Given the description of an element on the screen output the (x, y) to click on. 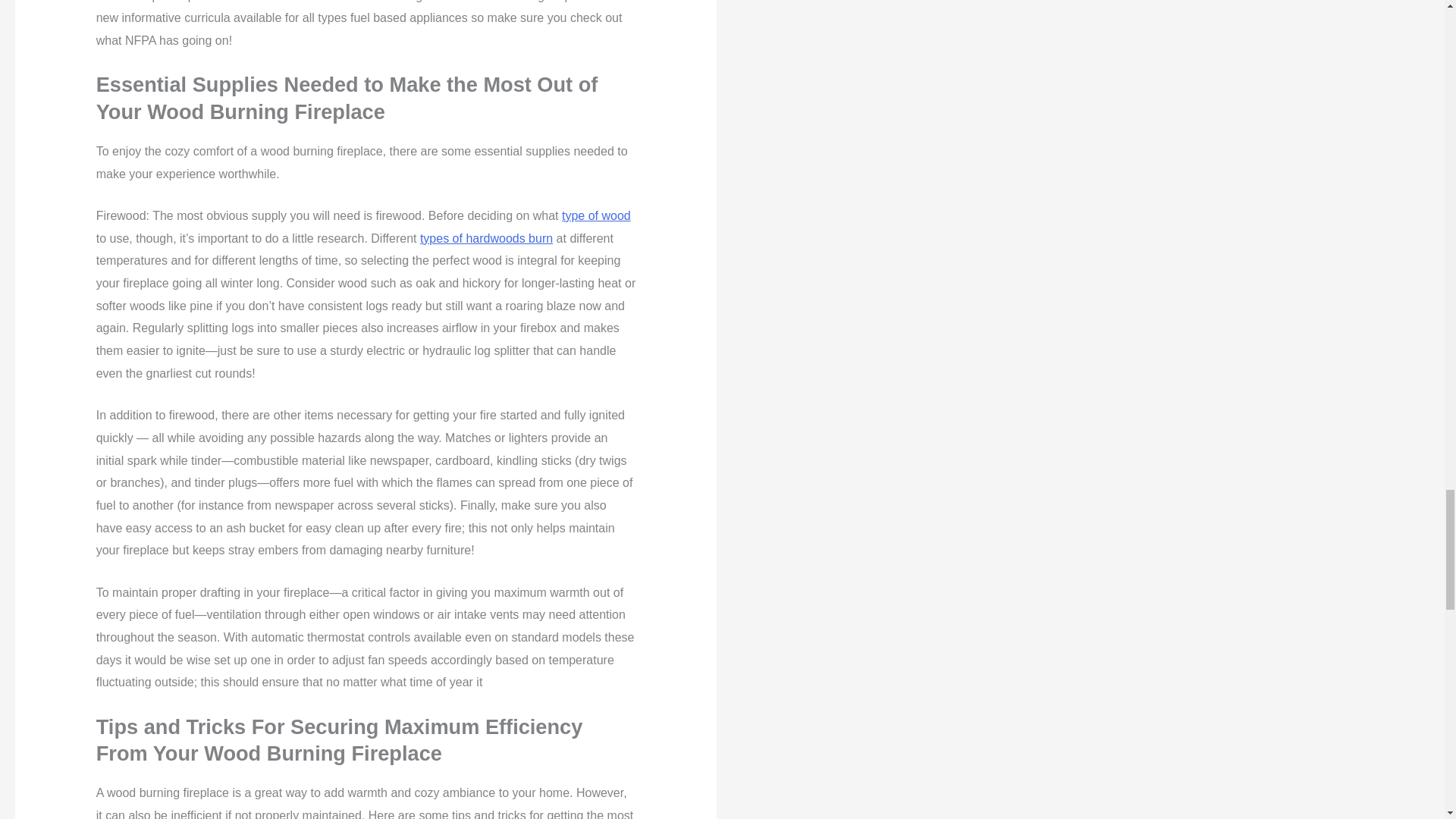
type of wood (596, 215)
types of hardwoods burn (486, 237)
